Given the description of an element on the screen output the (x, y) to click on. 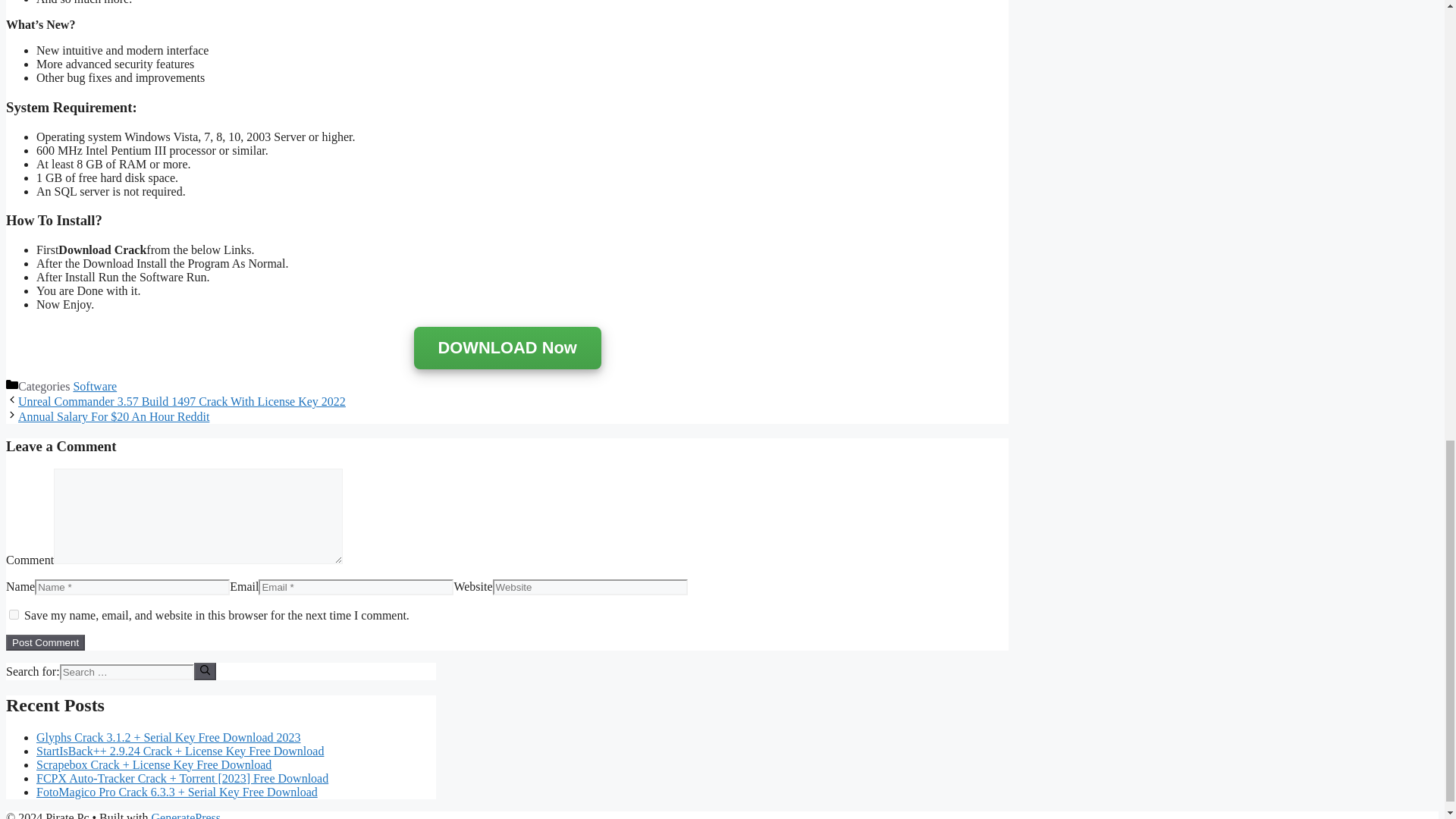
DOWNLOAD Now (507, 349)
DOWNLOAD Now (507, 347)
Software (94, 386)
Post Comment (44, 642)
Unreal Commander 3.57 Build 1497 Crack With License Key 2022 (181, 400)
Search for: (126, 672)
yes (13, 614)
Post Comment (44, 642)
